Given the description of an element on the screen output the (x, y) to click on. 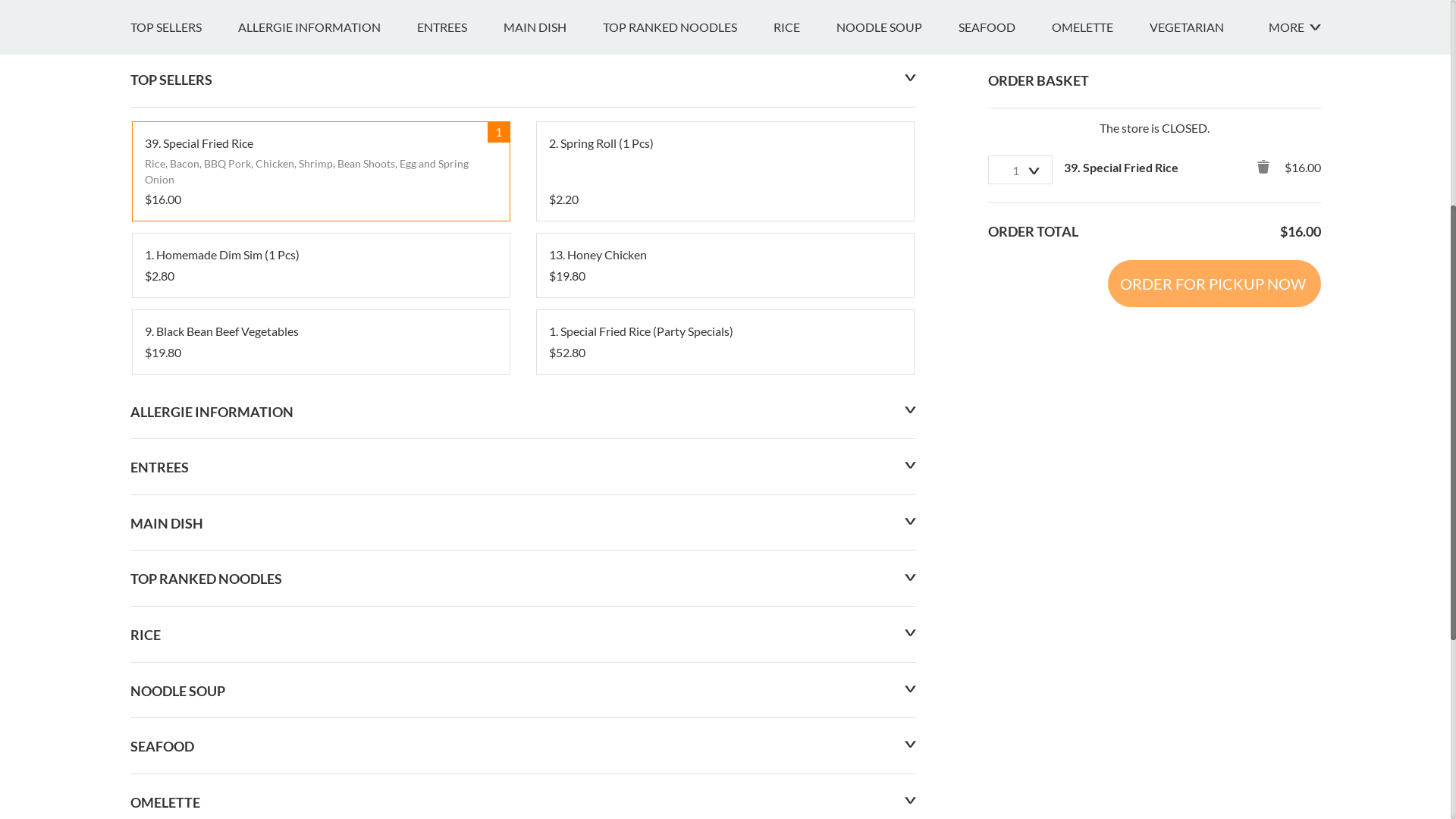
RICE Element type: text (804, 414)
VEGETARIAN Element type: text (1204, 414)
3.5 Element type: text (146, 278)
SEAFOOD Element type: text (1004, 414)
Noodle Corner Element type: text (219, 223)
OMELETTE Element type: text (1099, 414)
2. Spring Roll (1 Pcs)
$2.20 Element type: text (725, 558)
ORDER FOR PICKUP NOW  Element type: text (1213, 670)
MAIN DISH Element type: text (552, 414)
TOP SELLERS Element type: text (184, 414)
9. Black Bean Beef Vegetables
$19.80 Element type: text (320, 729)
ALLERGIE INFORMATION Element type: text (327, 414)
MORE Element type: text (1293, 414)
9. Black Bean Beef Vegetables
$19.80 Element type: text (320, 729)
1. Special Fried Rice (Party Specials)
$52.80 Element type: text (725, 729)
NOODLE SOUP Element type: text (896, 414)
TOP RANKED NOODLES Element type: text (687, 414)
1. Homemade Dim Sim (1 Pcs)
$2.80 Element type: text (320, 652)
1. Homemade Dim Sim (1 Pcs)
$2.80 Element type: text (320, 652)
13. Honey Chicken
$19.80 Element type: text (725, 652)
13. Honey Chicken
$19.80 Element type: text (725, 652)
EN Element type: text (138, 16)
1. Special Fried Rice (Party Specials)
$52.80 Element type: text (725, 729)
2. Spring Roll (1 Pcs)
$2.20 Element type: text (725, 558)
ENTREES Element type: text (460, 414)
